Given the description of an element on the screen output the (x, y) to click on. 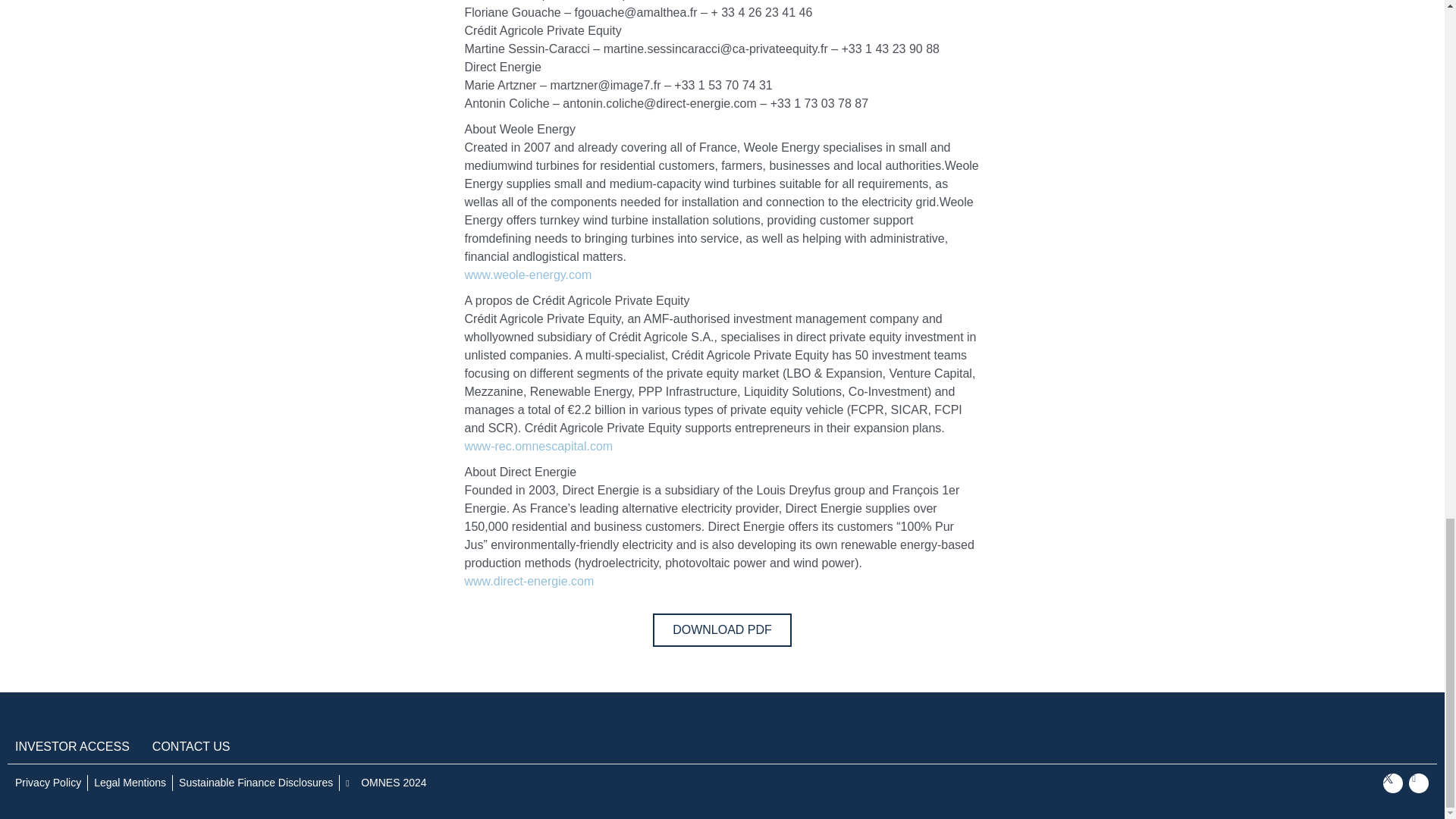
Privacy Policy (47, 782)
DOWNLOAD PDF (722, 630)
www.weole-energy.com (527, 274)
CONTACT US (191, 746)
INVESTOR ACCESS (71, 746)
www-rec.omnescapital.com (538, 445)
www.direct-energie.com (529, 581)
Legal Mentions (129, 782)
Sustainable Finance Disclosures (256, 782)
